Given the description of an element on the screen output the (x, y) to click on. 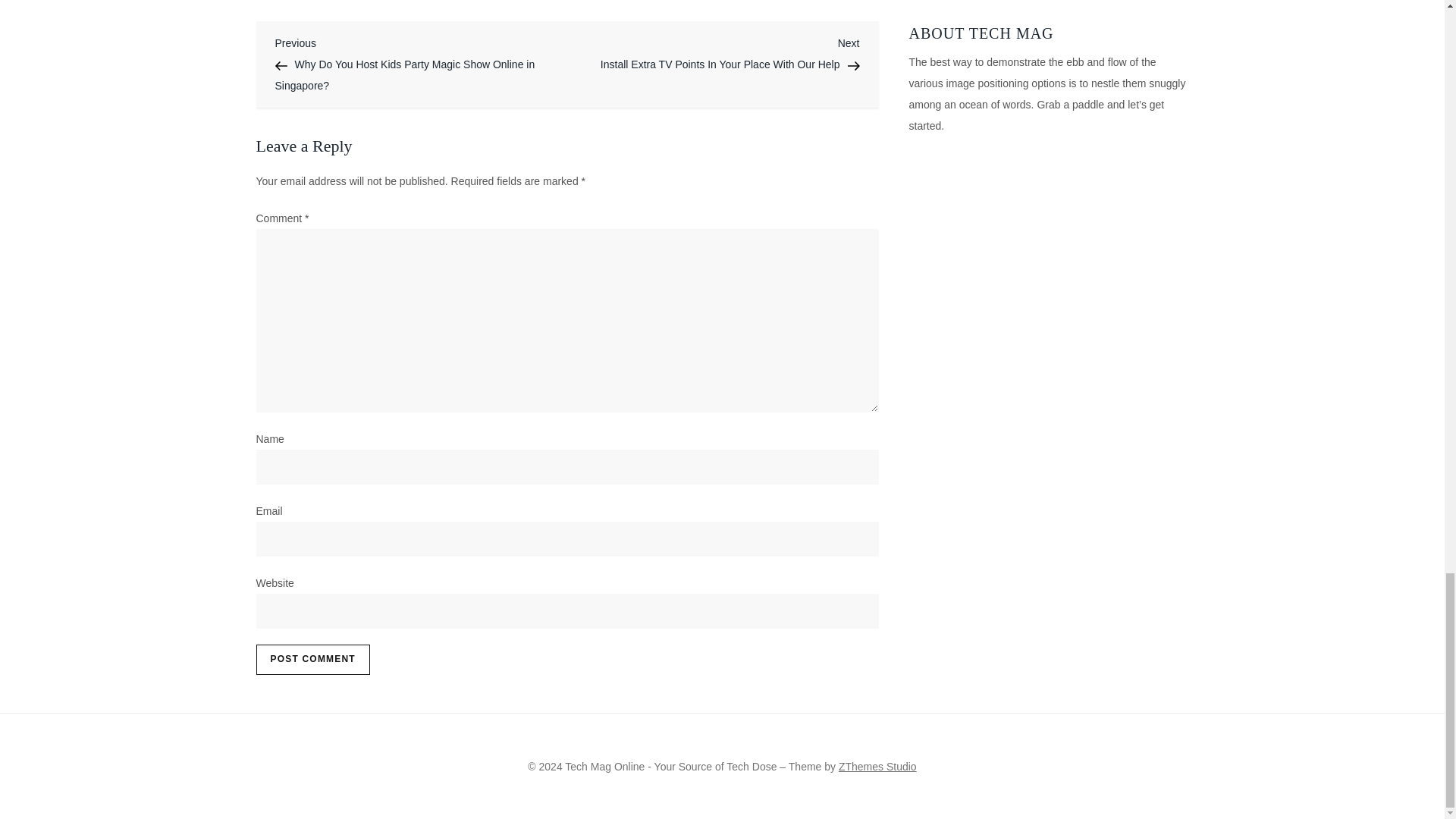
ZThemes Studio (877, 766)
NEWS (273, 0)
Post Comment (312, 659)
Post Comment (312, 659)
